Given the description of an element on the screen output the (x, y) to click on. 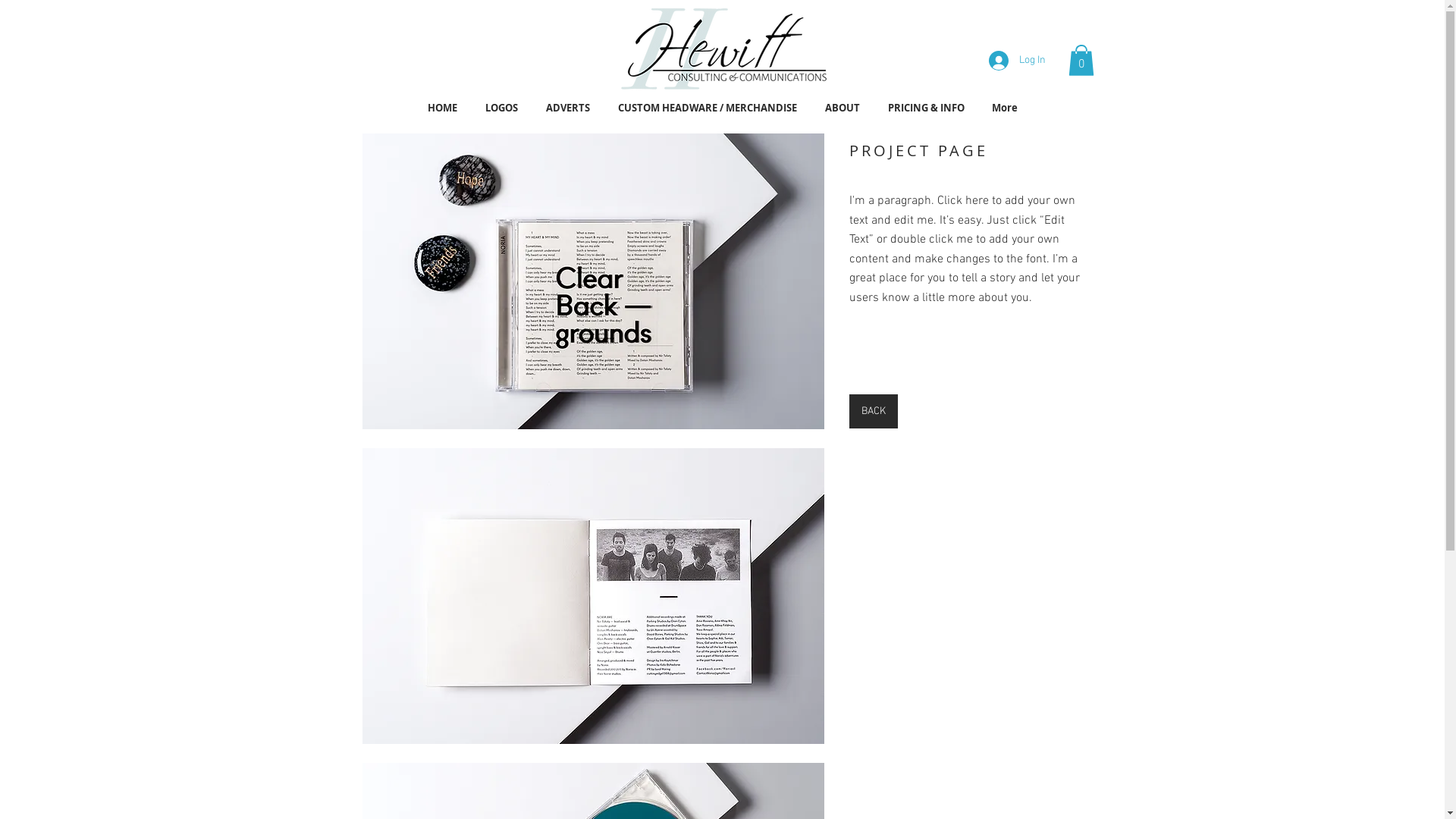
PRICING & INFO Element type: text (925, 107)
0 Element type: text (1080, 59)
ADVERTS Element type: text (568, 107)
HOME Element type: text (442, 107)
BACK Element type: text (873, 411)
LOGOS Element type: text (501, 107)
CUSTOM HEADWARE / MERCHANDISE Element type: text (706, 107)
Log In Element type: text (1017, 60)
ABOUT Element type: text (842, 107)
